Given the description of an element on the screen output the (x, y) to click on. 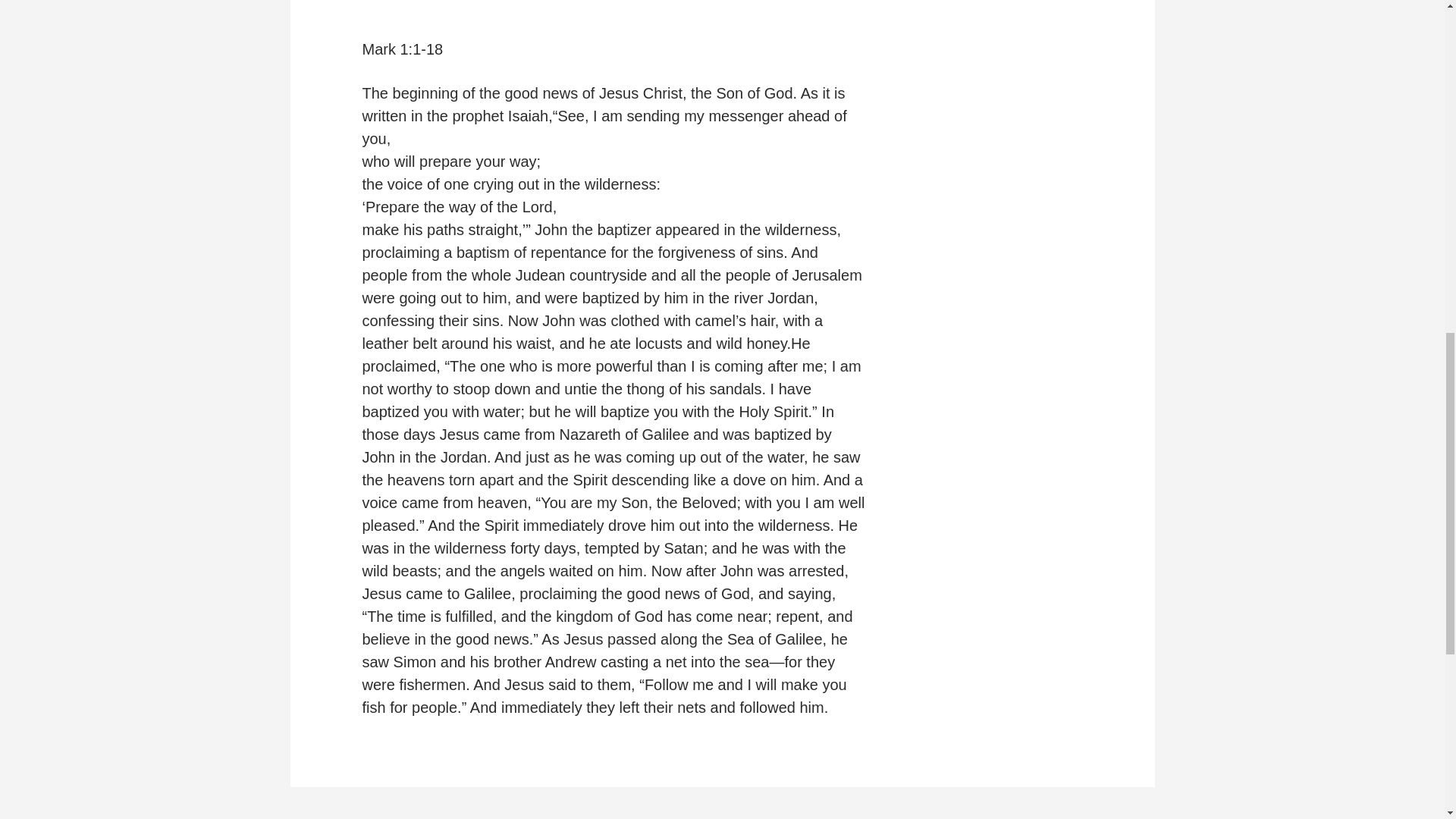
Dec 10, 2017 - It's OK to Point....to Jesus (613, 5)
